Given the description of an element on the screen output the (x, y) to click on. 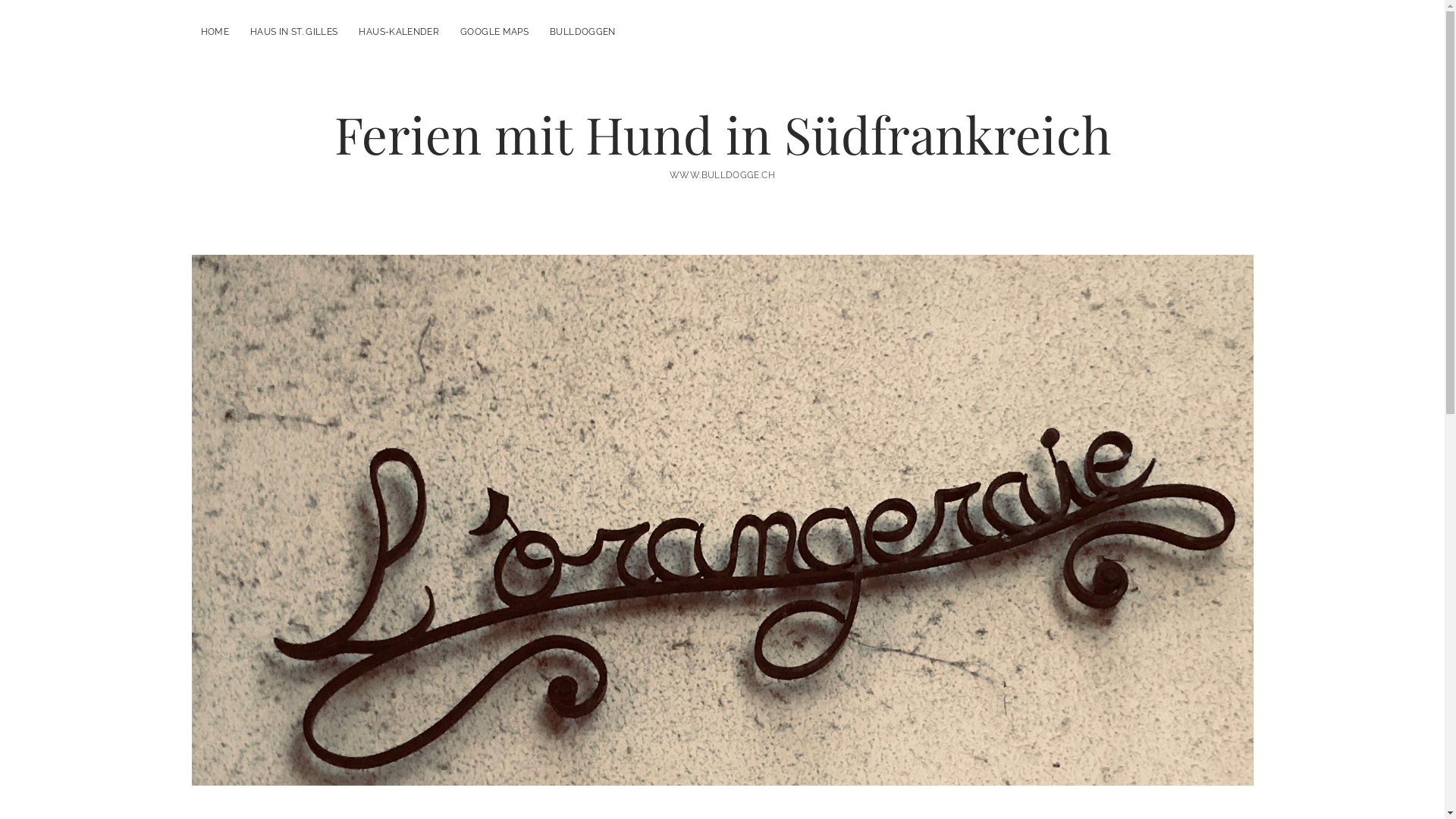
HOME Element type: text (214, 31)
GOOGLE MAPS Element type: text (494, 31)
HAUS-KALENDER Element type: text (398, 31)
BULLDOGGEN Element type: text (582, 31)
HAUS IN ST. GILLES Element type: text (293, 31)
